Given the description of an element on the screen output the (x, y) to click on. 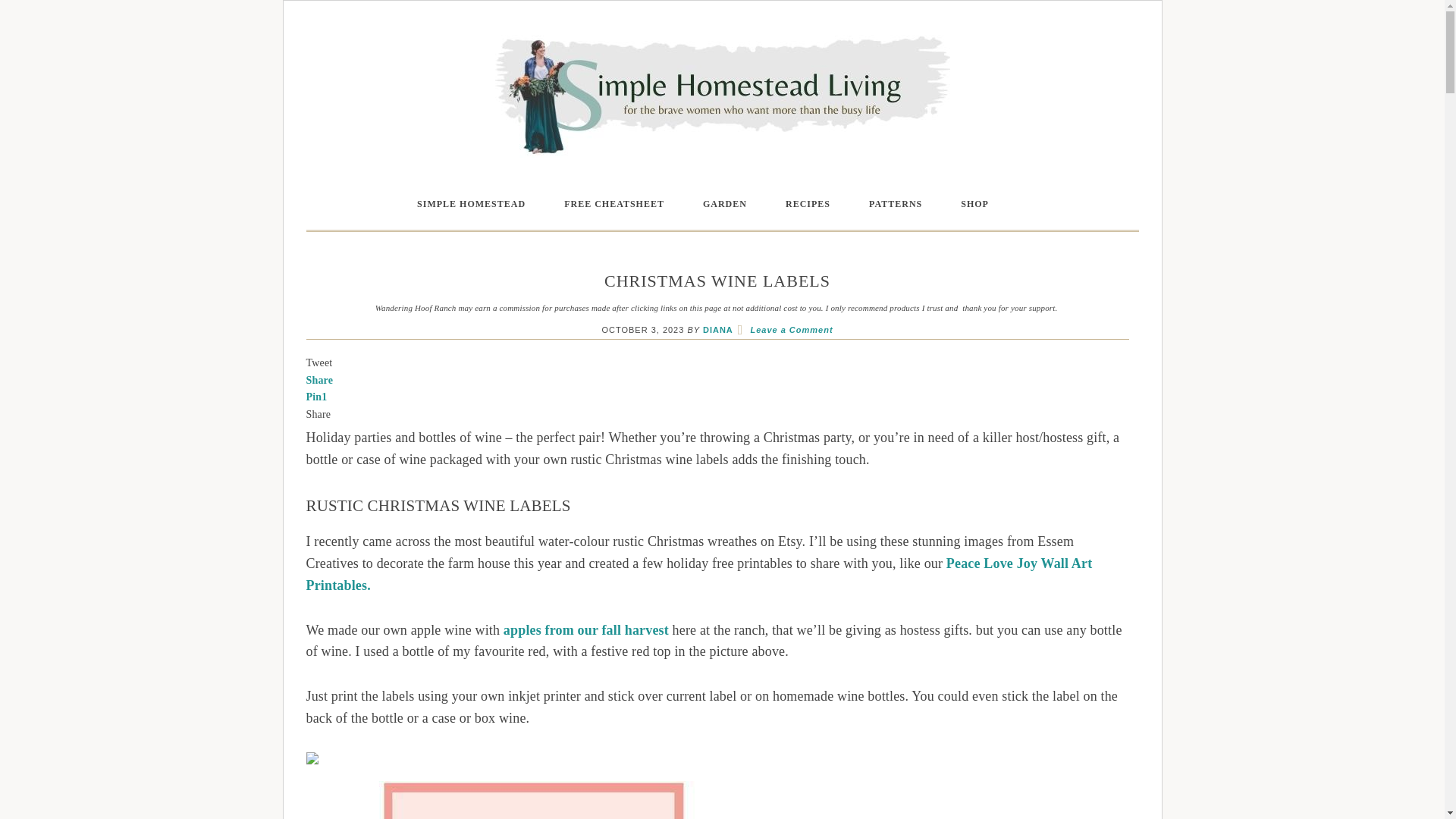
PATTERNS (895, 204)
SHOP (974, 204)
WANDERING HOOF RANCH (722, 93)
Pin1 (316, 396)
FREE CHEATSHEET (613, 204)
Share (319, 379)
RECIPES (807, 204)
GARDEN (724, 204)
DIANA (718, 329)
